Given the description of an element on the screen output the (x, y) to click on. 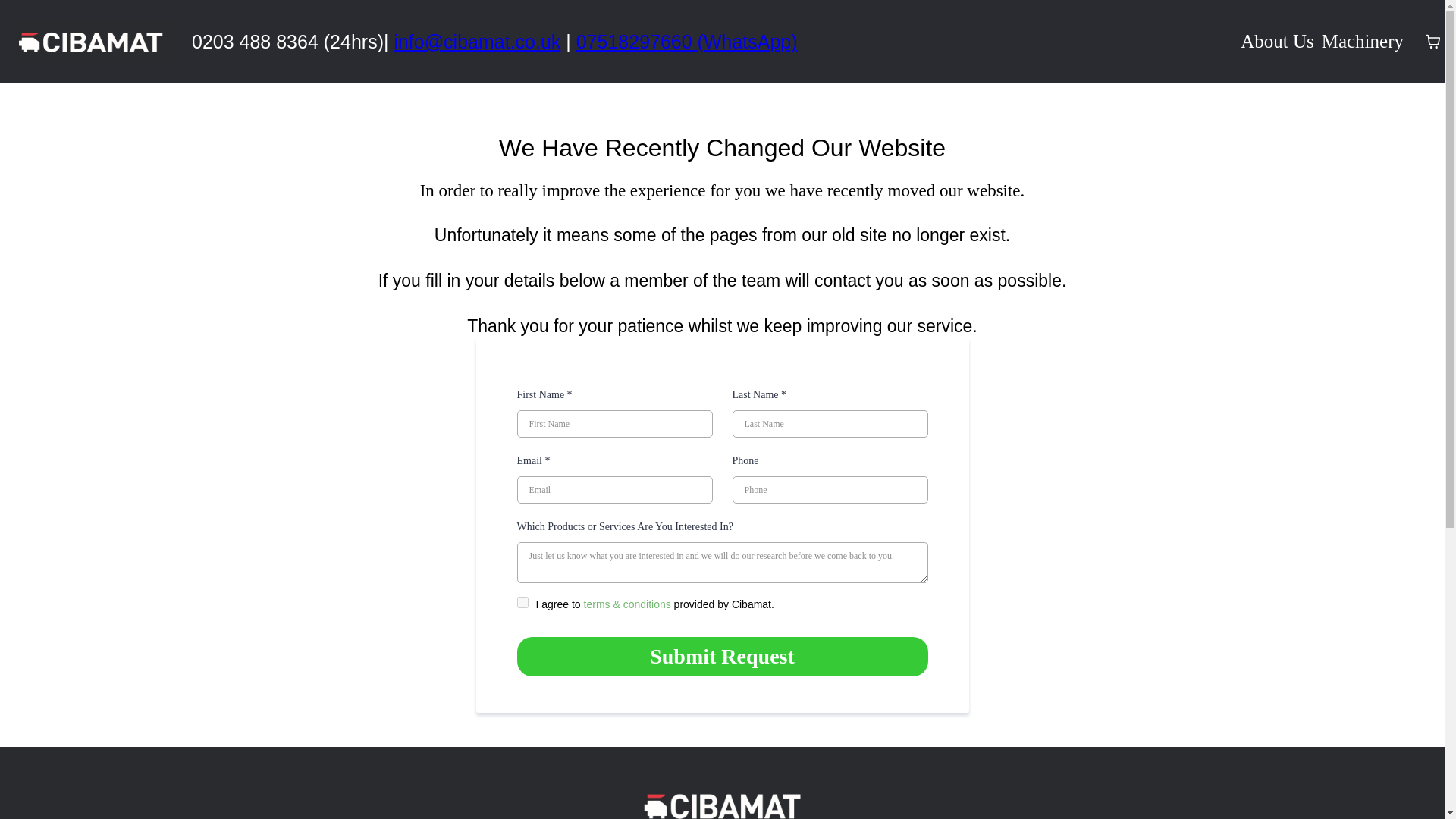
About Us (1276, 42)
Submit Request (722, 656)
Machinery (1362, 42)
